Given the description of an element on the screen output the (x, y) to click on. 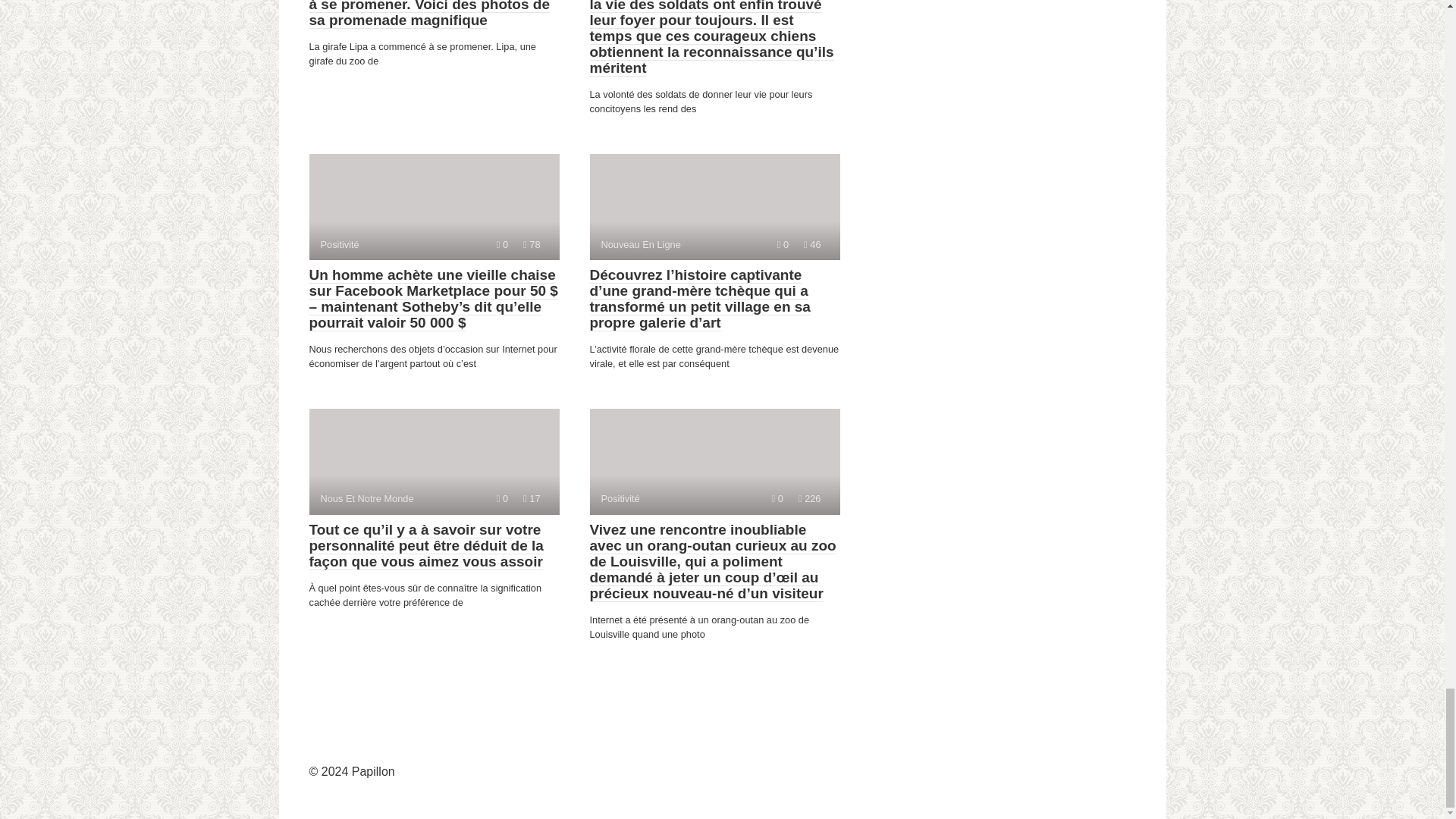
Views (433, 461)
Comments (531, 498)
Comments (502, 244)
Comments (777, 498)
Views (783, 244)
Comments (809, 498)
Views (502, 498)
Views (714, 206)
